Given the description of an element on the screen output the (x, y) to click on. 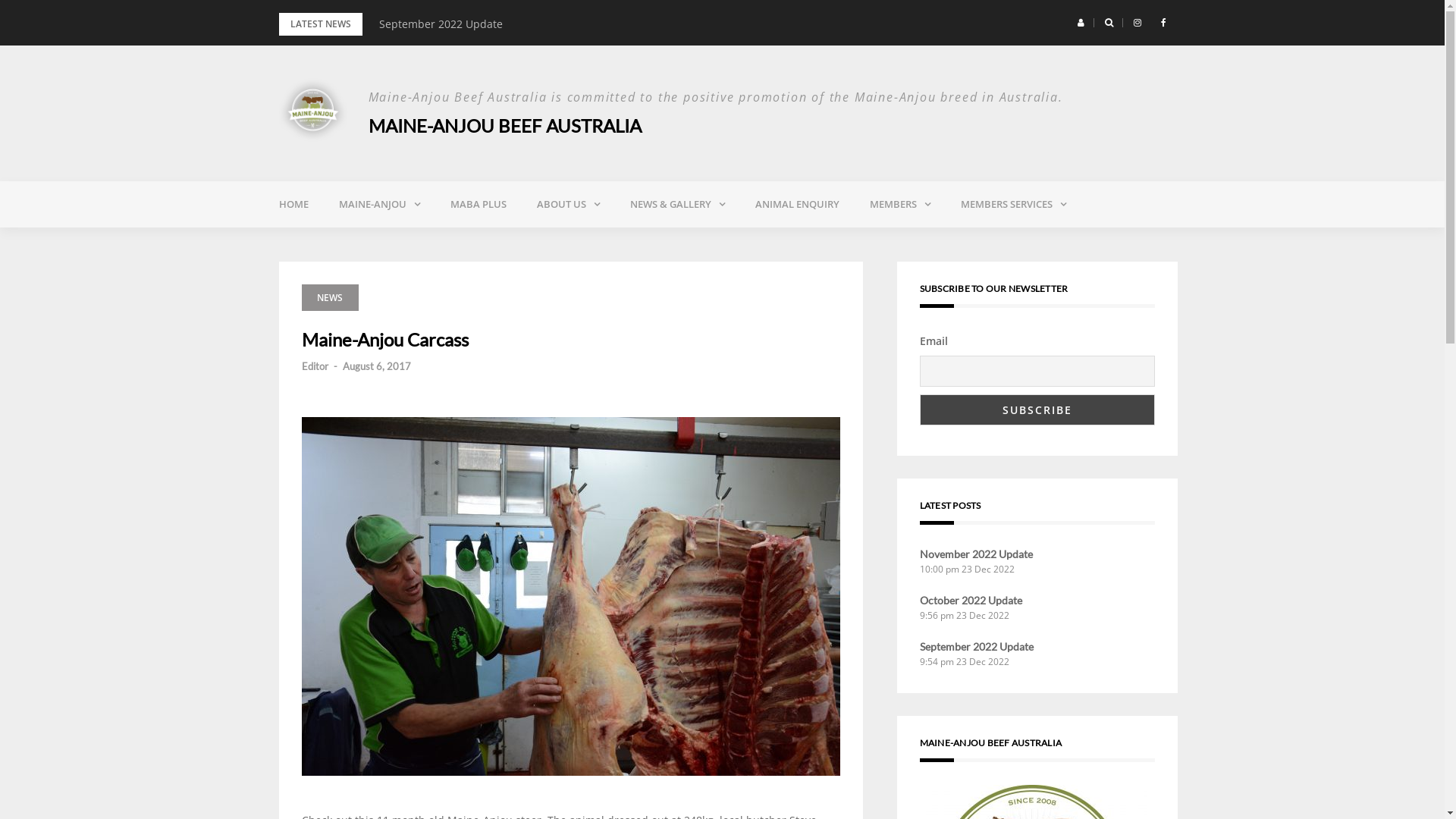
Editor Element type: text (314, 366)
Why become a member? Element type: text (1046, 242)
ANIMAL ENQUIRY Element type: text (797, 203)
October 2022 Update Element type: text (433, 23)
Victoria Element type: text (955, 242)
November 2022 Update Element type: text (975, 553)
NEWS Element type: text (329, 297)
Association Element type: text (623, 242)
ABOUT US Element type: text (568, 204)
HOME Element type: text (293, 203)
August 6, 2017 Element type: text (376, 366)
MEMBERS Element type: text (898, 204)
MAINE-ANJOU Element type: text (378, 204)
MAINE-ANJOU BEEF AUSTRALIA Element type: text (504, 125)
News Element type: text (716, 242)
October 2022 Update Element type: text (970, 599)
Maine-Anjou Element type: text (425, 242)
September 2022 Update Element type: text (975, 646)
MEMBERS SERVICES Element type: text (1012, 204)
NEWS & GALLERY Element type: text (676, 204)
MABA PLUS Element type: text (478, 203)
Subscribe Element type: text (1036, 409)
